Given the description of an element on the screen output the (x, y) to click on. 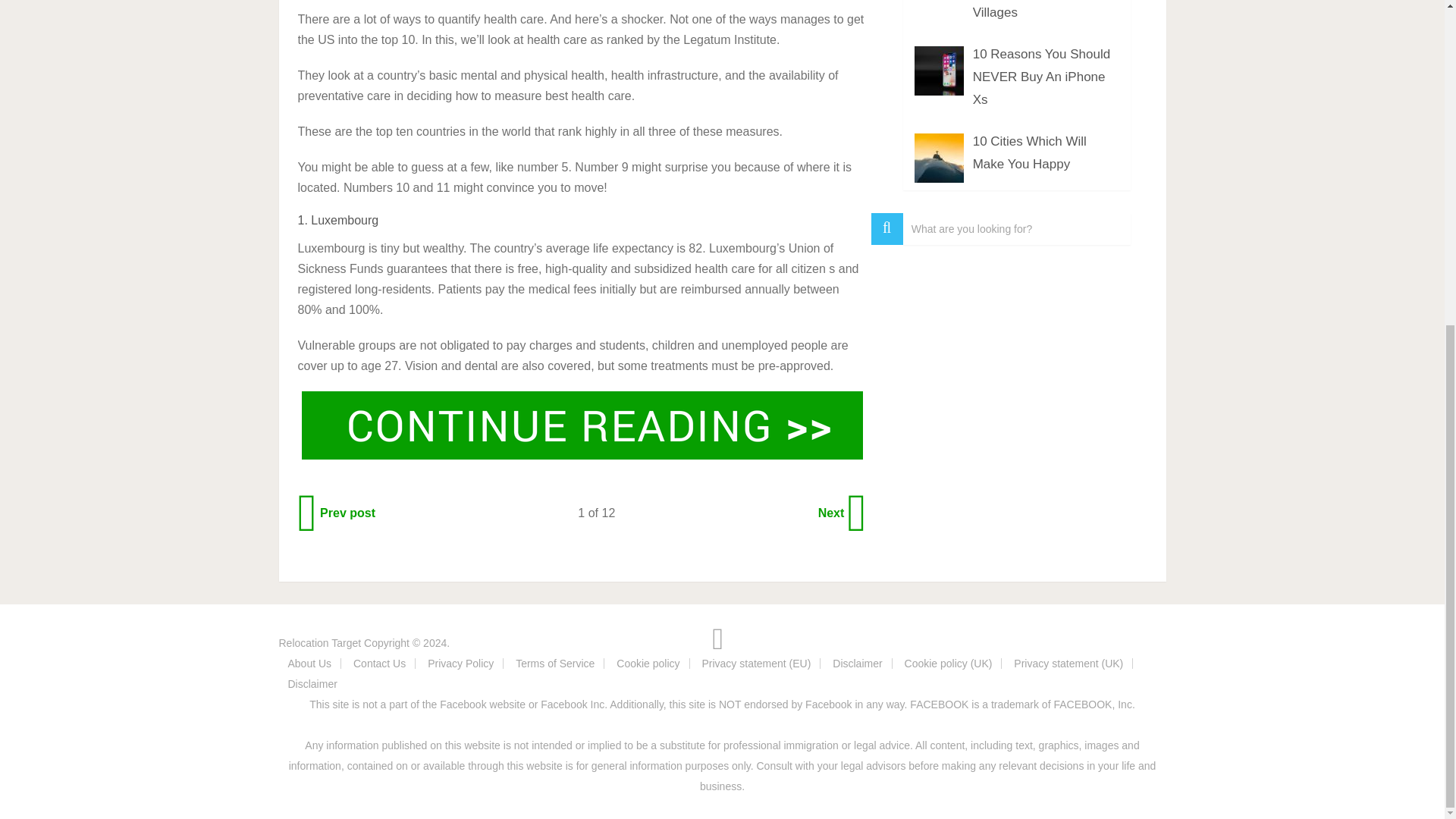
Terms of Service (554, 663)
Contact Us (379, 663)
10 Cities Which Will Make You Happy (1029, 152)
10 Reasons You Should NEVER Buy An iPhone Xs (1041, 76)
Relocation Target (320, 643)
 Relocation Target Blog (320, 643)
10 Cities Which Will Make You Happy (1029, 152)
10 Reasons You Should NEVER Buy An iPhone Xs (1041, 76)
Prev post (337, 512)
